Given the description of an element on the screen output the (x, y) to click on. 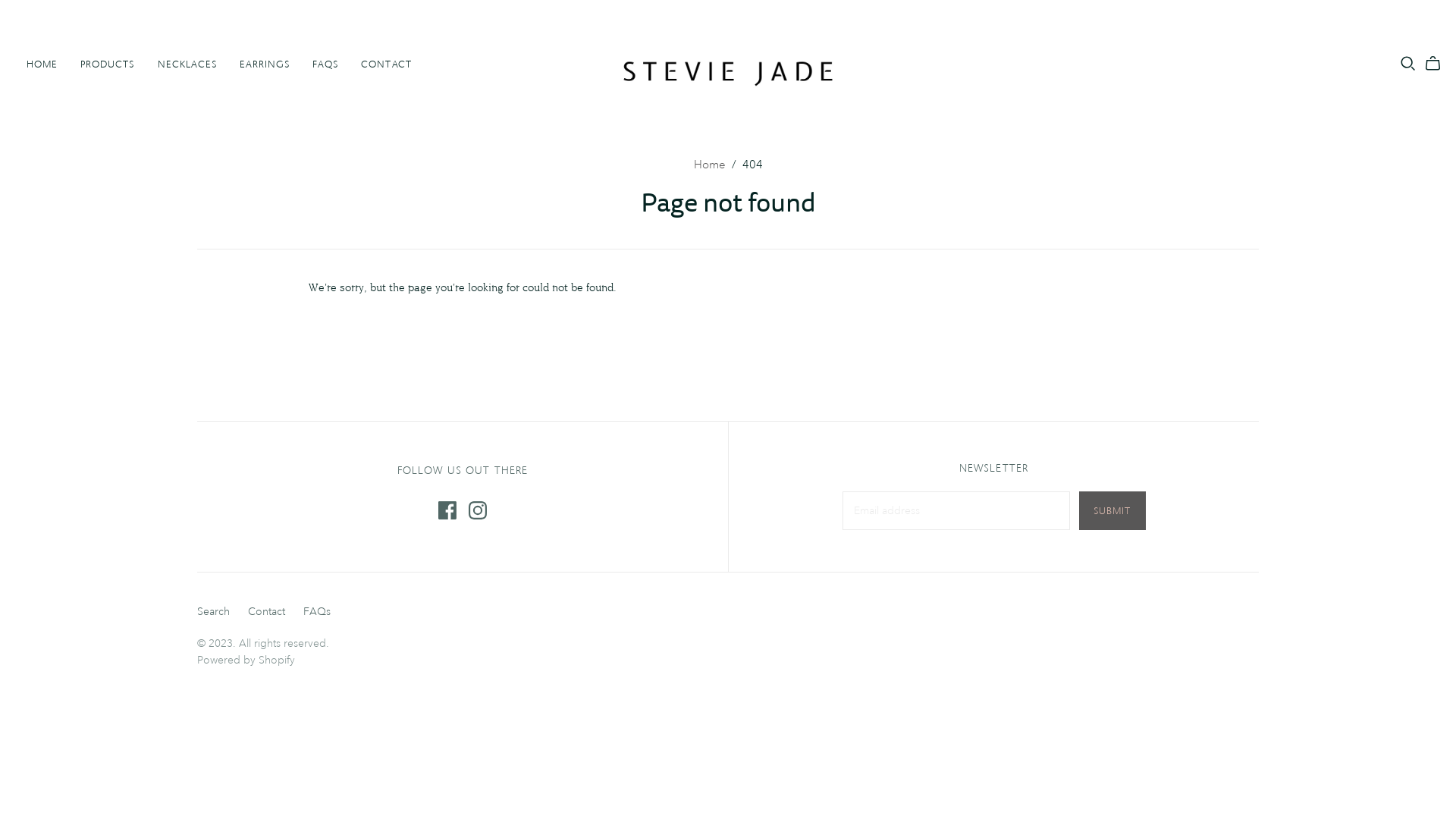
Contact Element type: text (266, 611)
Powered by Shopify Element type: text (245, 659)
PRODUCTS Element type: text (107, 63)
Home Element type: text (708, 164)
HOME Element type: text (42, 63)
FAQS Element type: text (325, 63)
Search Element type: text (213, 611)
Submit Element type: text (1112, 510)
FAQs Element type: text (316, 611)
NECKLACES Element type: text (186, 63)
EARRINGS Element type: text (264, 63)
CONTACT Element type: text (385, 63)
